Given the description of an element on the screen output the (x, y) to click on. 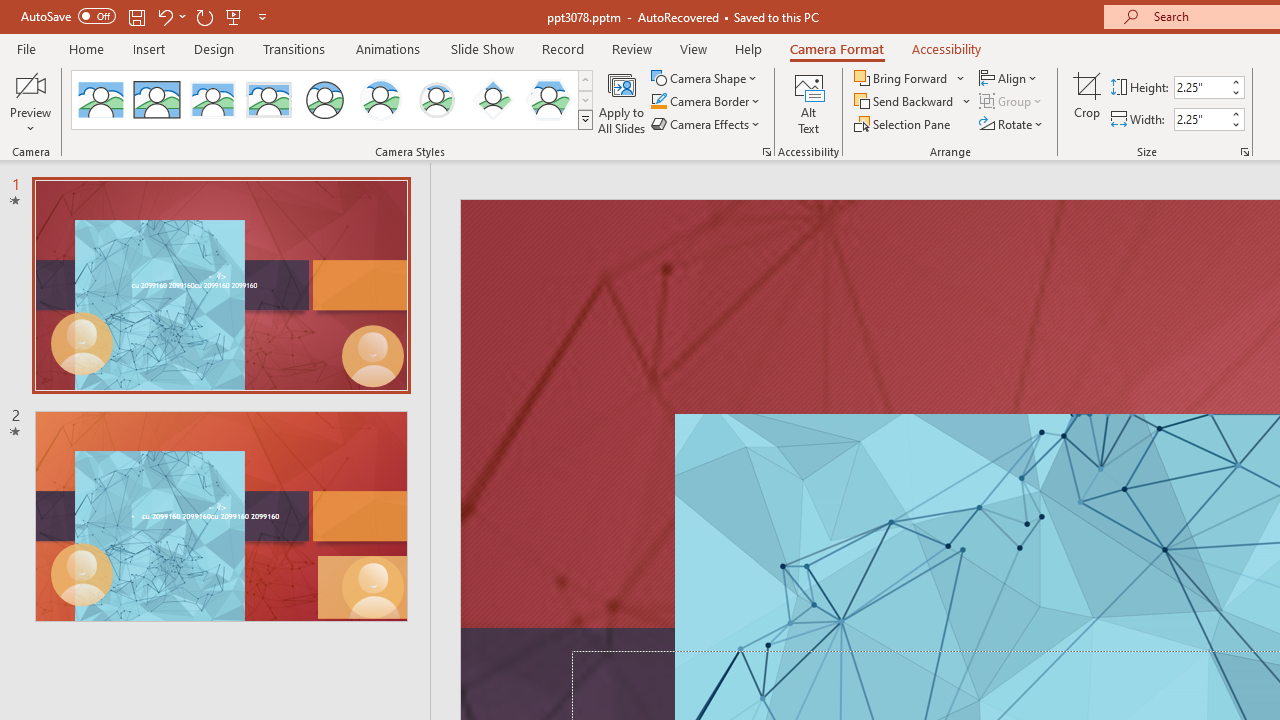
Size and Position... (1244, 151)
Center Shadow Hexagon (548, 100)
Center Shadow Diamond (492, 100)
Simple Frame Circle (324, 100)
Center Shadow Circle (381, 100)
